Given the description of an element on the screen output the (x, y) to click on. 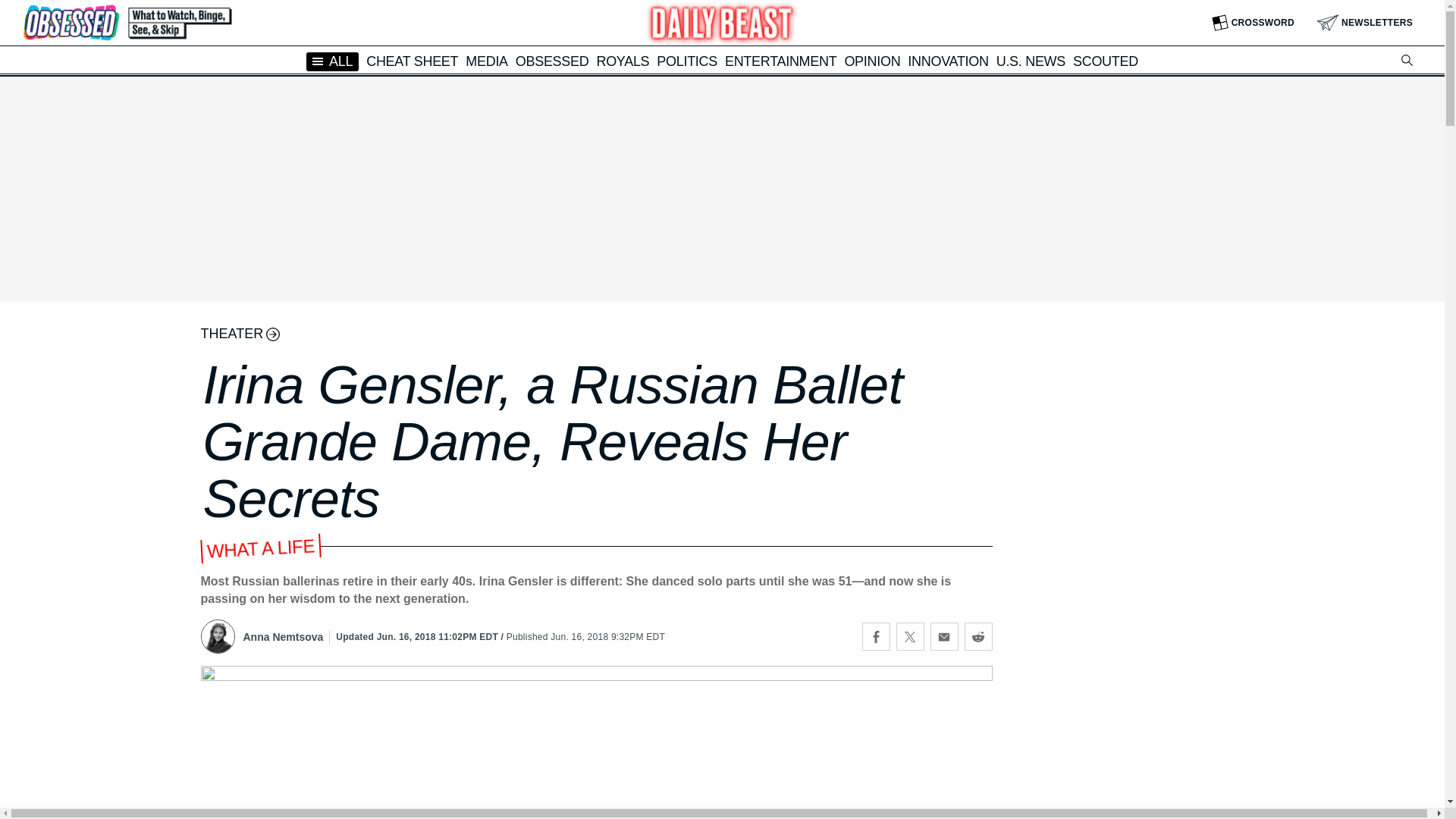
ROYALS (622, 60)
NEWSLETTERS (1364, 22)
SCOUTED (1105, 60)
POLITICS (686, 60)
OPINION (871, 60)
U.S. NEWS (1030, 60)
ENTERTAINMENT (780, 60)
ALL (331, 60)
MEDIA (486, 60)
OBSESSED (552, 60)
